Given the description of an element on the screen output the (x, y) to click on. 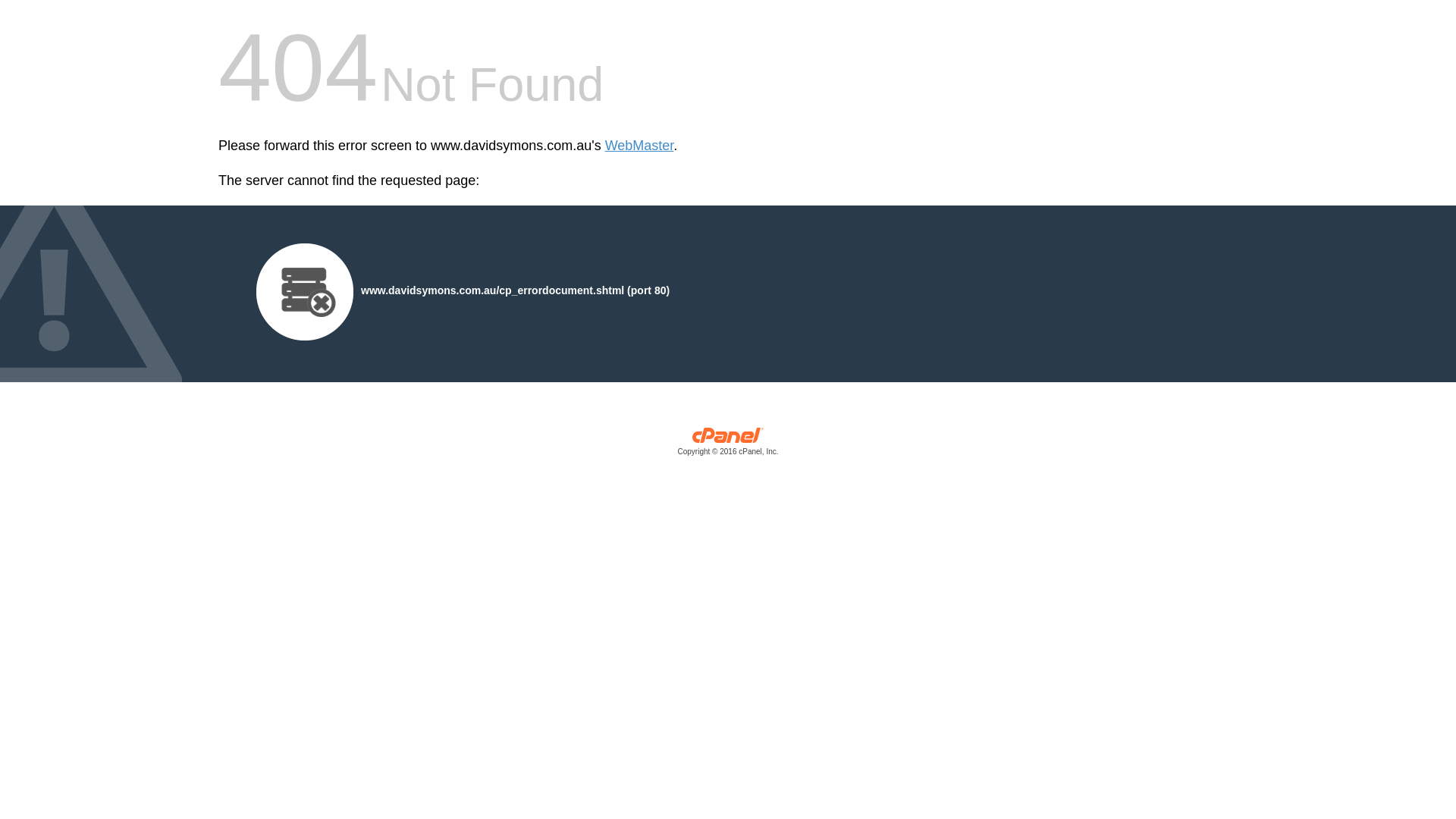
WebMaster Element type: text (639, 145)
